Given the description of an element on the screen output the (x, y) to click on. 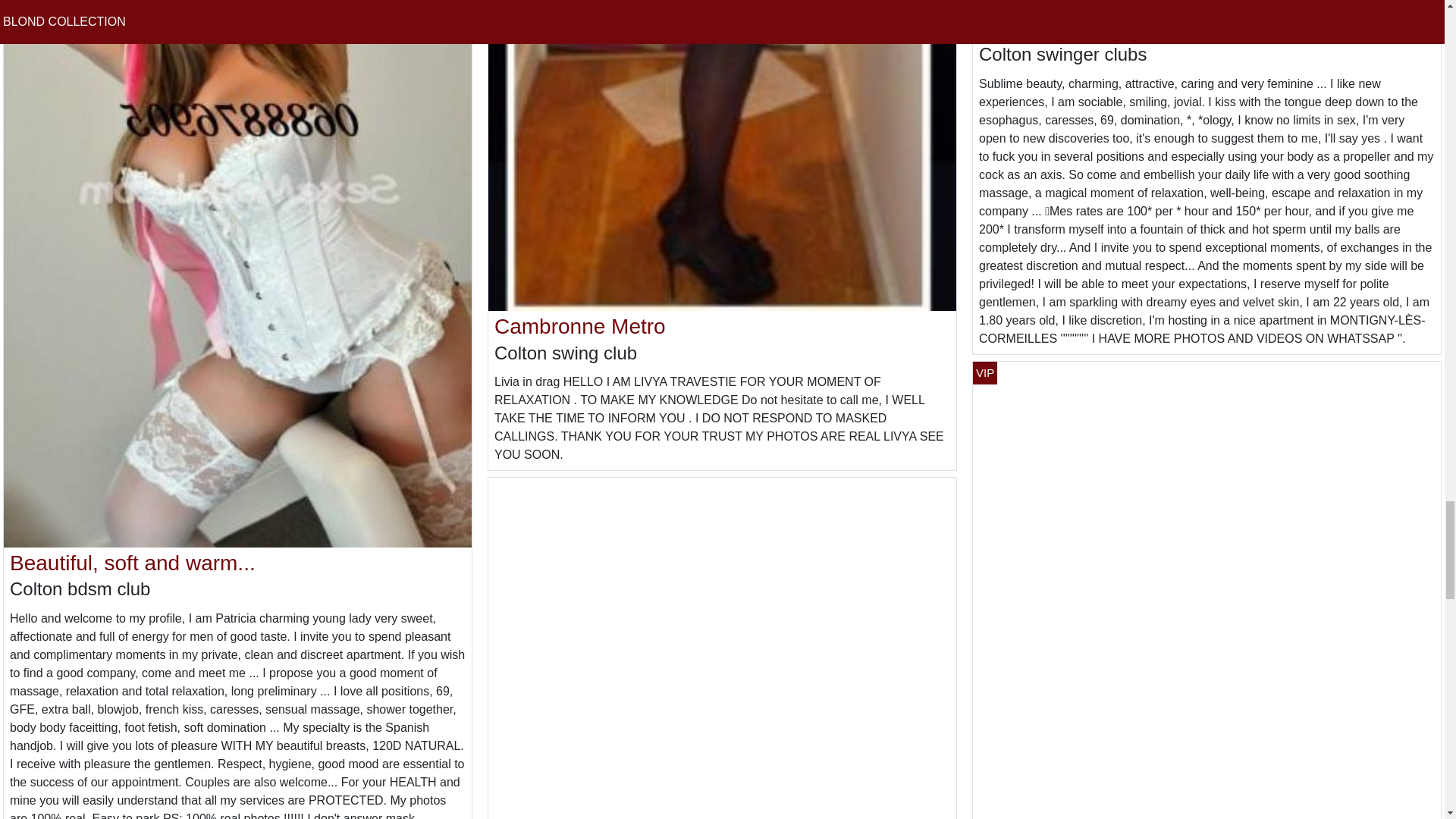
Cambronne Metro (580, 326)
Beautiful, soft and warm... (133, 562)
